Given the description of an element on the screen output the (x, y) to click on. 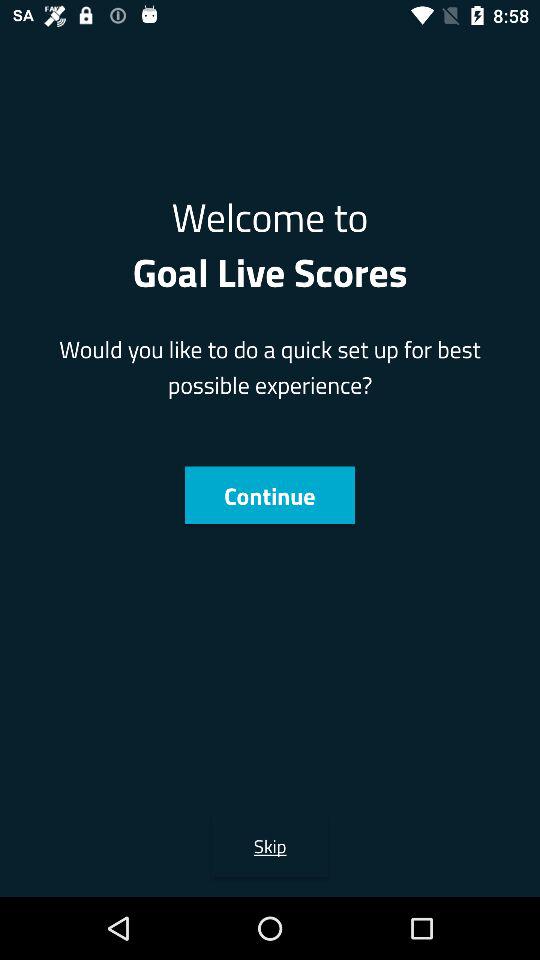
jump until continue item (269, 495)
